Given the description of an element on the screen output the (x, y) to click on. 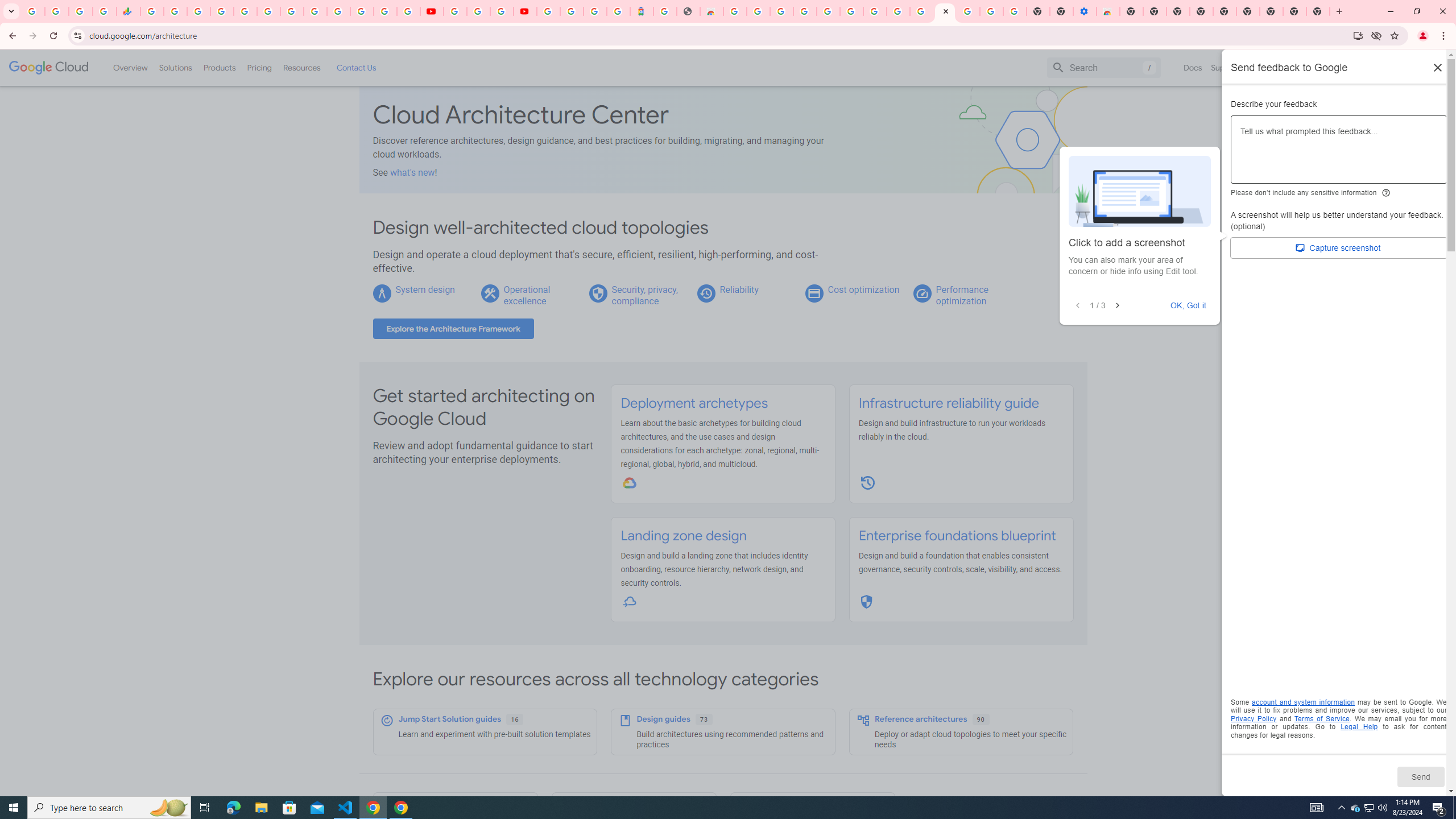
Solutions (175, 67)
Turn cookies on or off - Computer - Google Account Help (1015, 11)
Support (1225, 67)
Previous (1077, 305)
Sign in - Google Accounts (968, 11)
Create your Google Account (897, 11)
Explore the Architecture Framework (453, 328)
Google Workspace Admin Community (32, 11)
Operational excellence (526, 295)
